Given the description of an element on the screen output the (x, y) to click on. 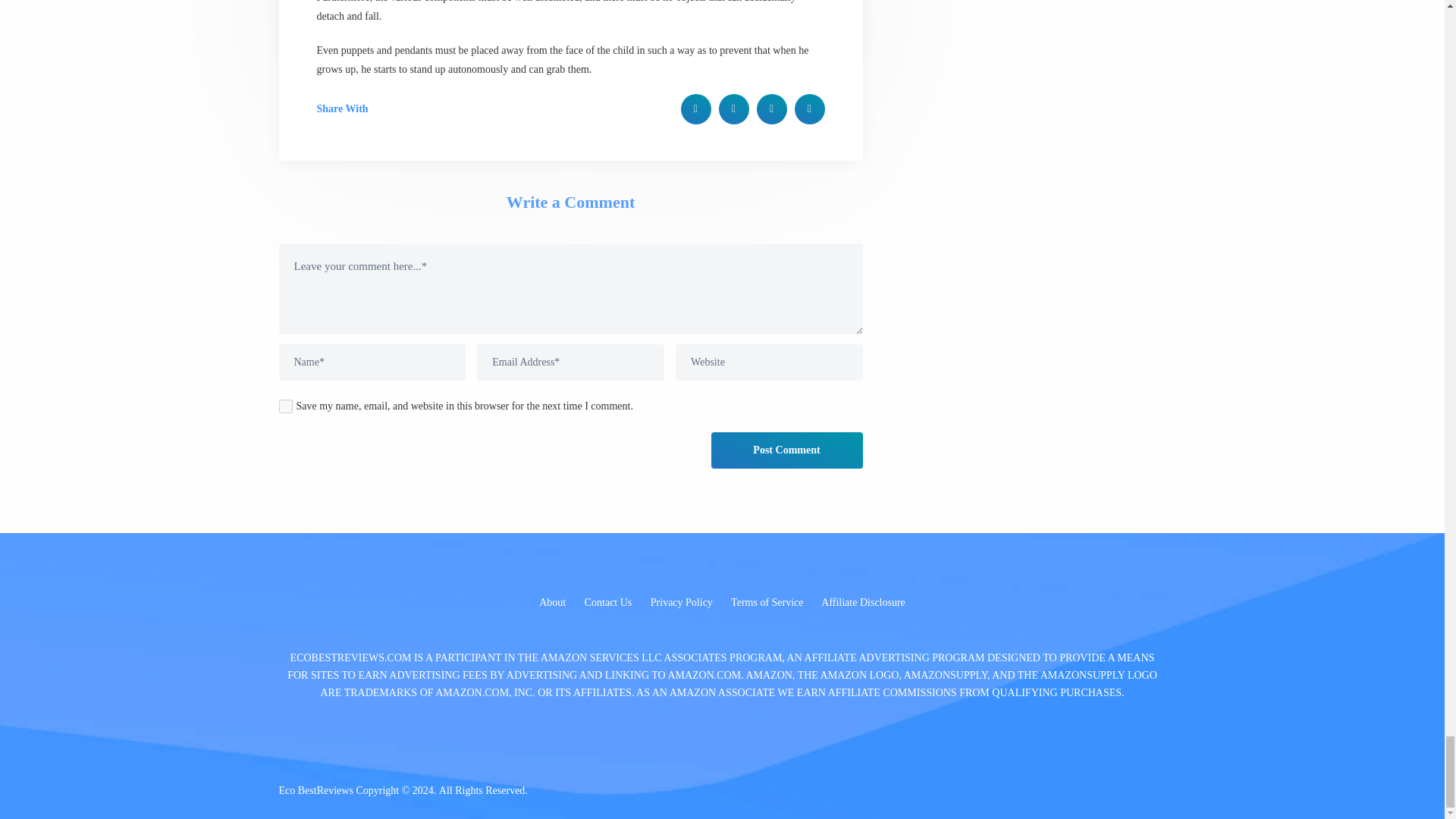
Post Comment (787, 450)
yes (285, 406)
